Given the description of an element on the screen output the (x, y) to click on. 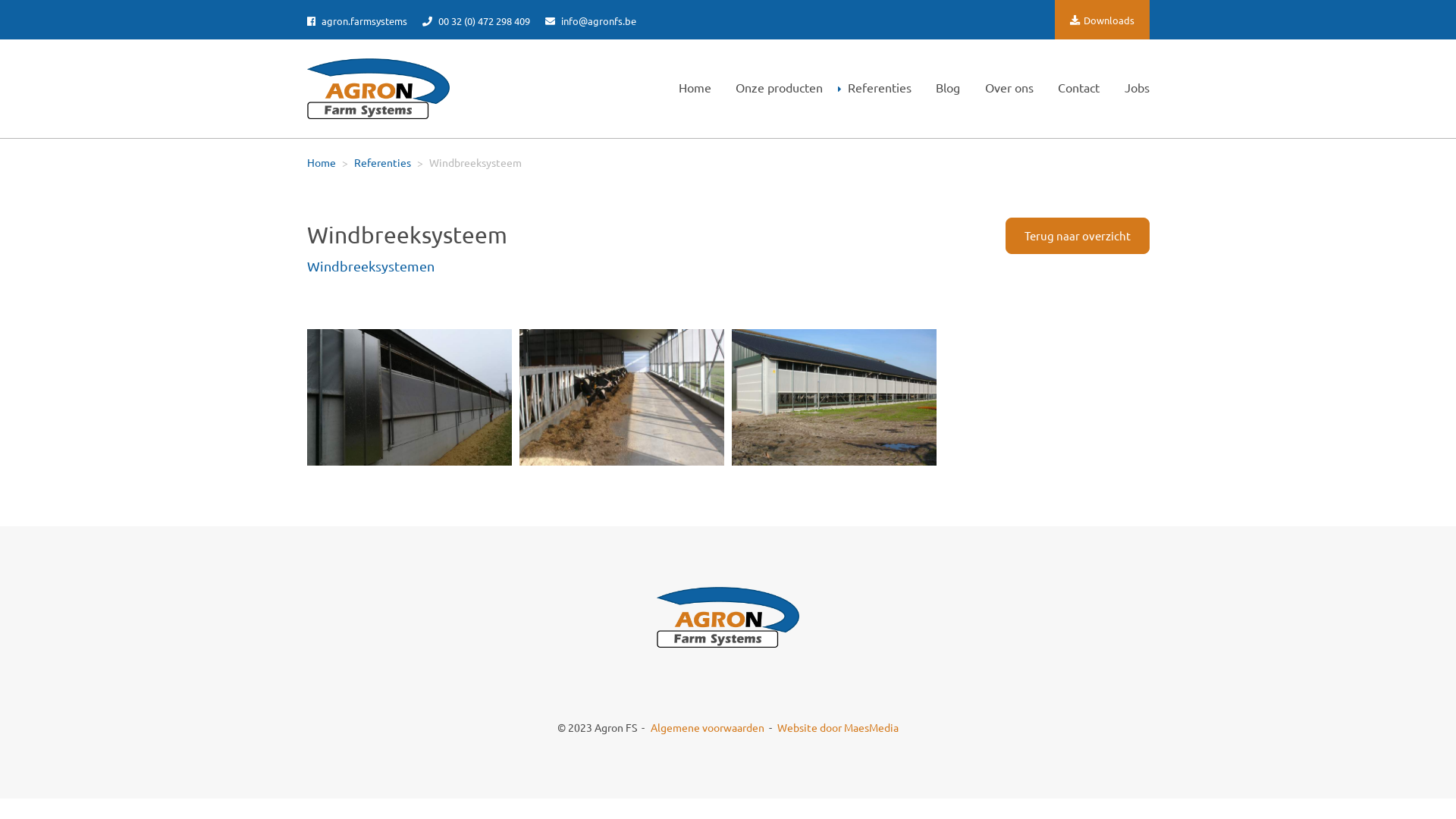
Over ons Element type: text (1004, 88)
Downloads Element type: text (1101, 19)
Home Element type: text (320, 162)
Onze producten Element type: text (774, 88)
00 32 (0) 472 298 409 Element type: text (475, 20)
Jobs Element type: text (1131, 88)
Website door MaesMedia Element type: text (837, 727)
Terug naar overzicht Element type: text (1077, 235)
Contact Element type: text (1073, 88)
Blog Element type: text (943, 88)
Referenties Element type: text (381, 162)
agron.farmsystems Element type: text (356, 20)
Algemene voorwaarden Element type: text (707, 727)
info@agronfs.be Element type: text (589, 20)
Referenties Element type: text (874, 88)
Home Element type: text (689, 88)
